Given the description of an element on the screen output the (x, y) to click on. 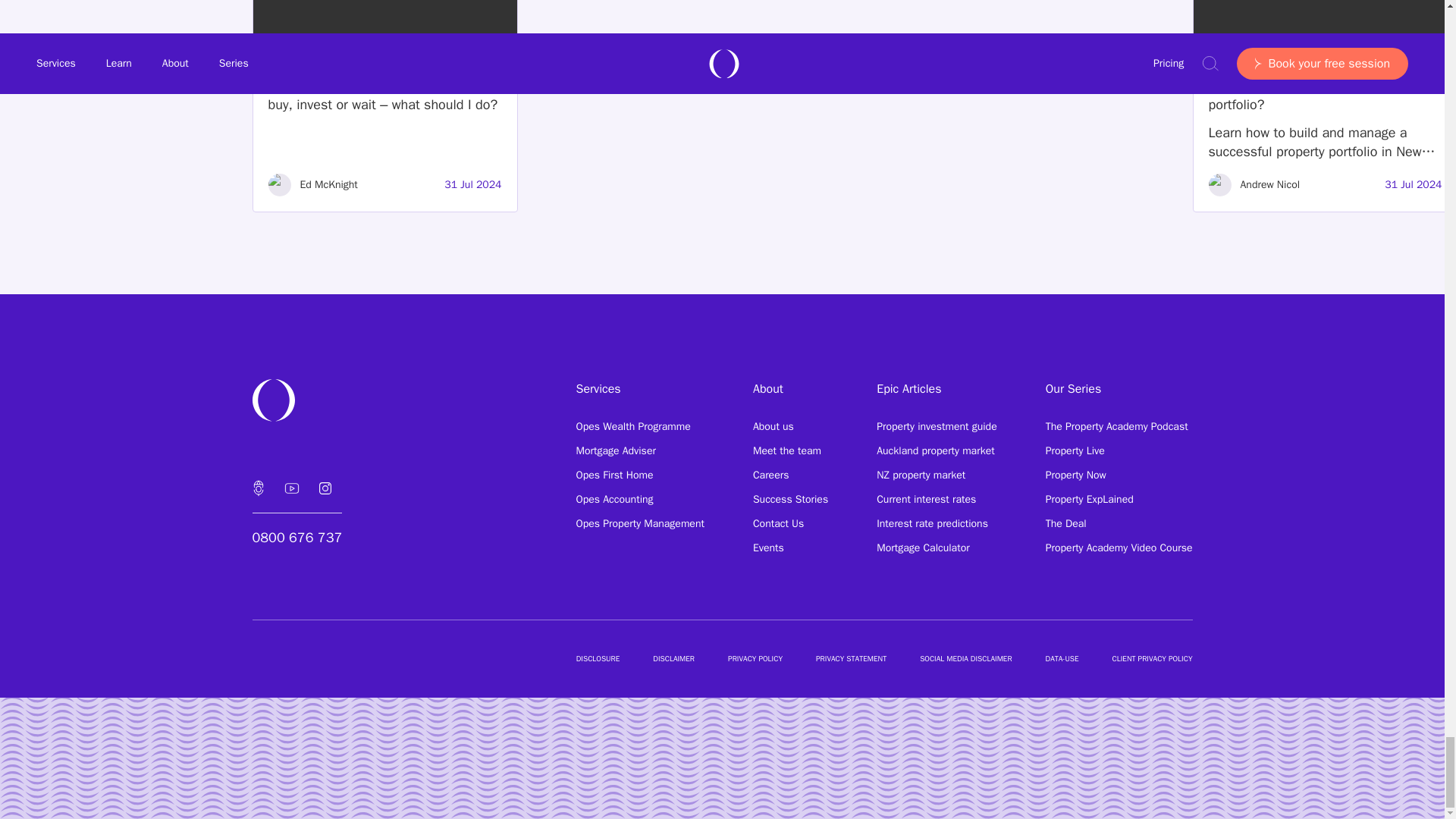
Published on Wednesday 31st July, 2024 (1412, 184)
Podcast (258, 488)
YouTube (290, 488)
Instagram (323, 488)
Published on Wednesday 31st July, 2024 (472, 184)
